Given the description of an element on the screen output the (x, y) to click on. 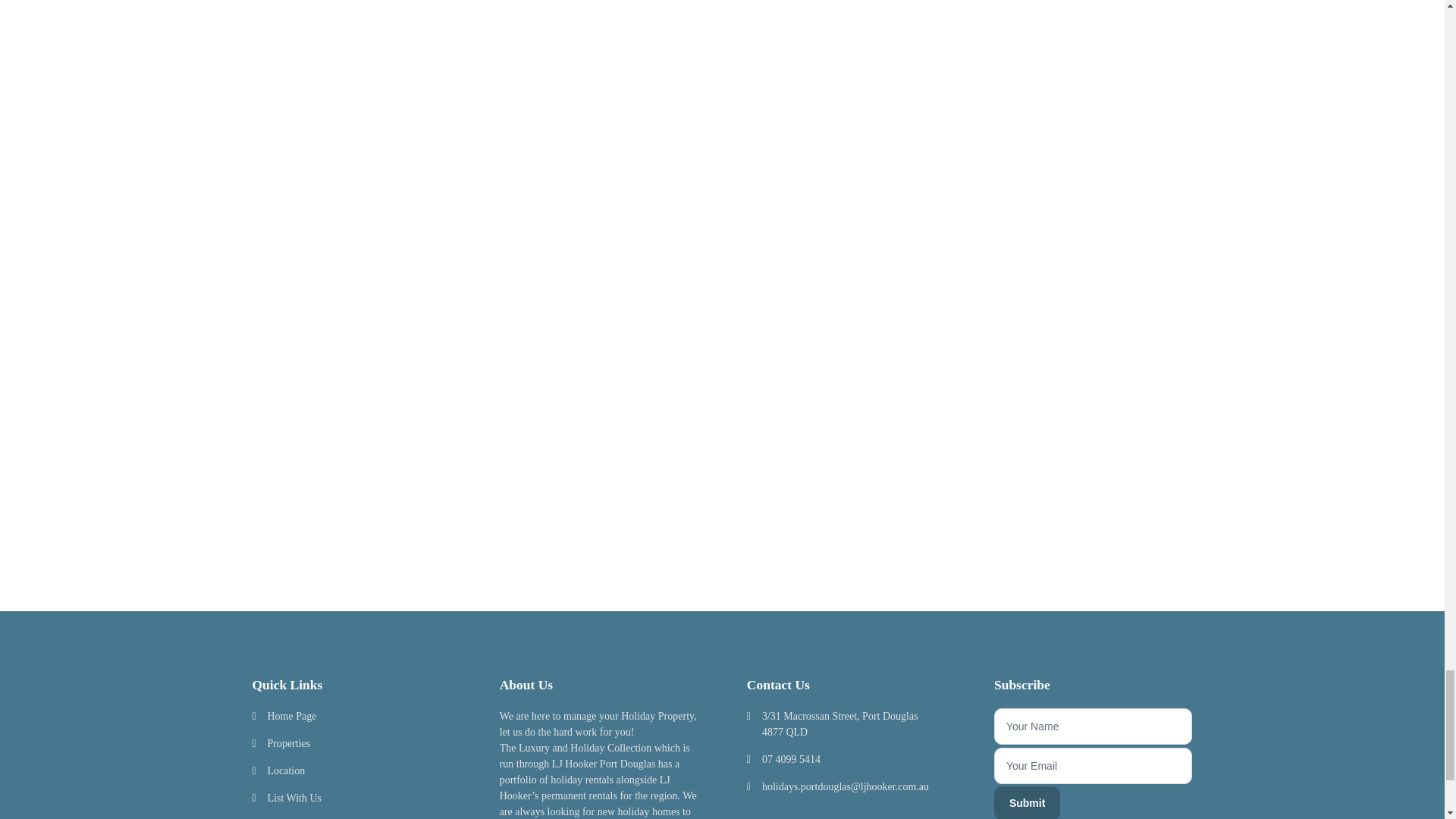
Your Email (1093, 765)
Submit (1026, 802)
Your Name (1093, 726)
